Given the description of an element on the screen output the (x, y) to click on. 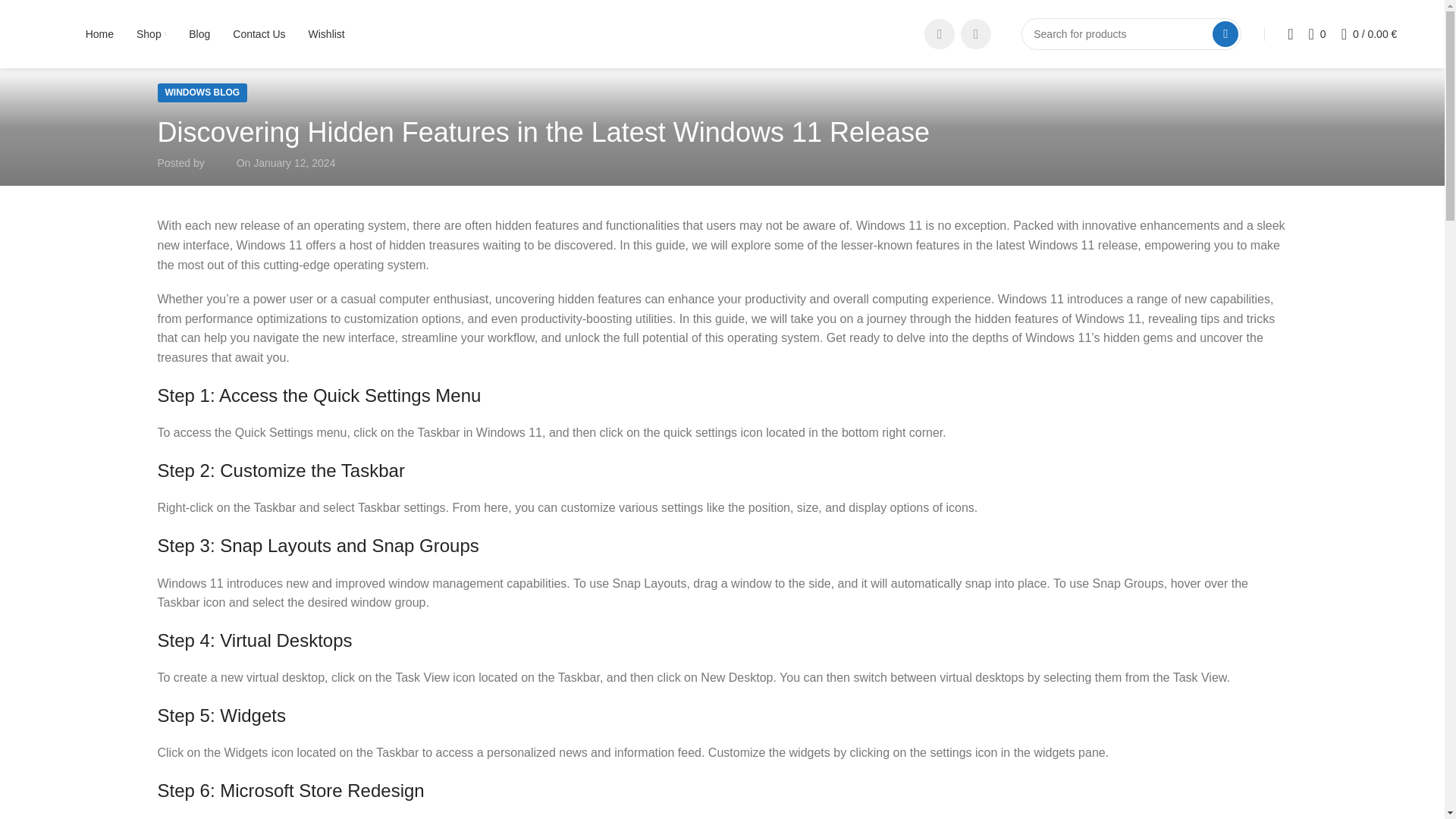
Home (99, 33)
0 (1317, 33)
My Wishlist (1317, 33)
WINDOWS BLOG (202, 92)
Shopping cart (1369, 33)
Shop (150, 33)
Contact Us (258, 33)
Wishlist (326, 33)
Search (1225, 33)
Search for products (1131, 33)
